Given the description of an element on the screen output the (x, y) to click on. 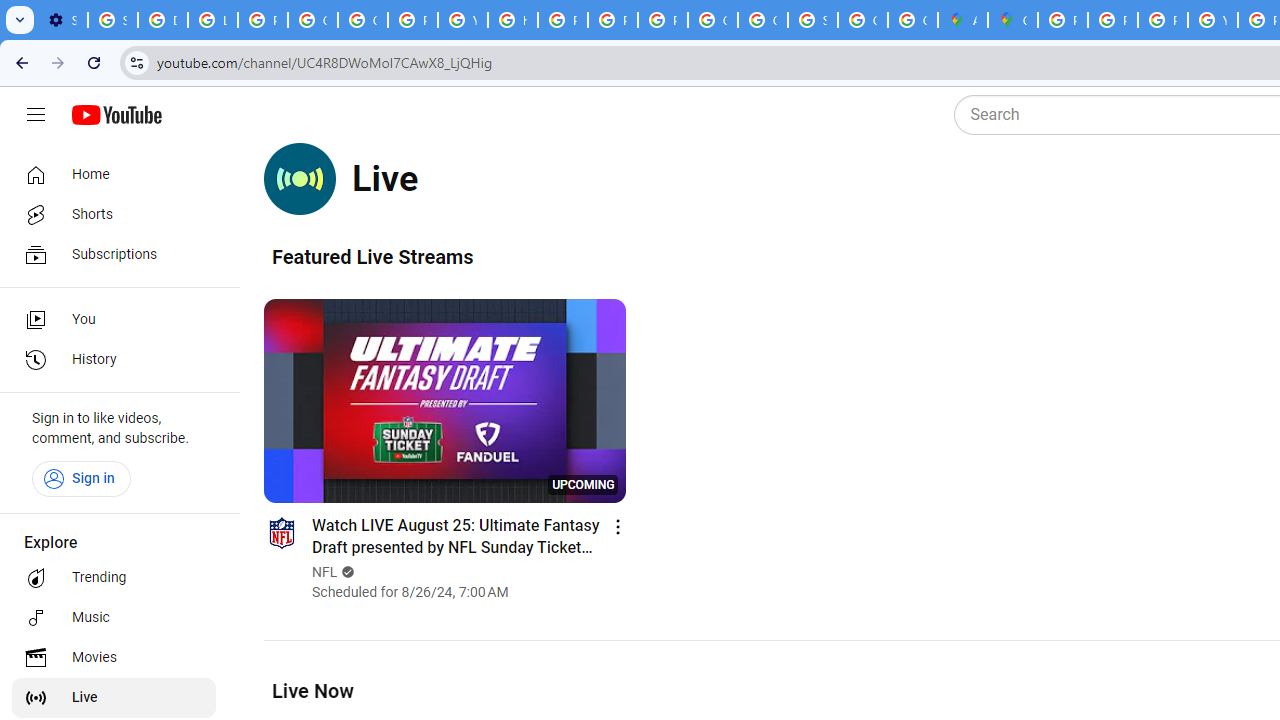
Live Now (312, 690)
Privacy Help Center - Policies Help (1112, 20)
YouTube (1212, 20)
YouTube Home (116, 115)
Sign in - Google Accounts (113, 20)
YouTube (462, 20)
